Given the description of an element on the screen output the (x, y) to click on. 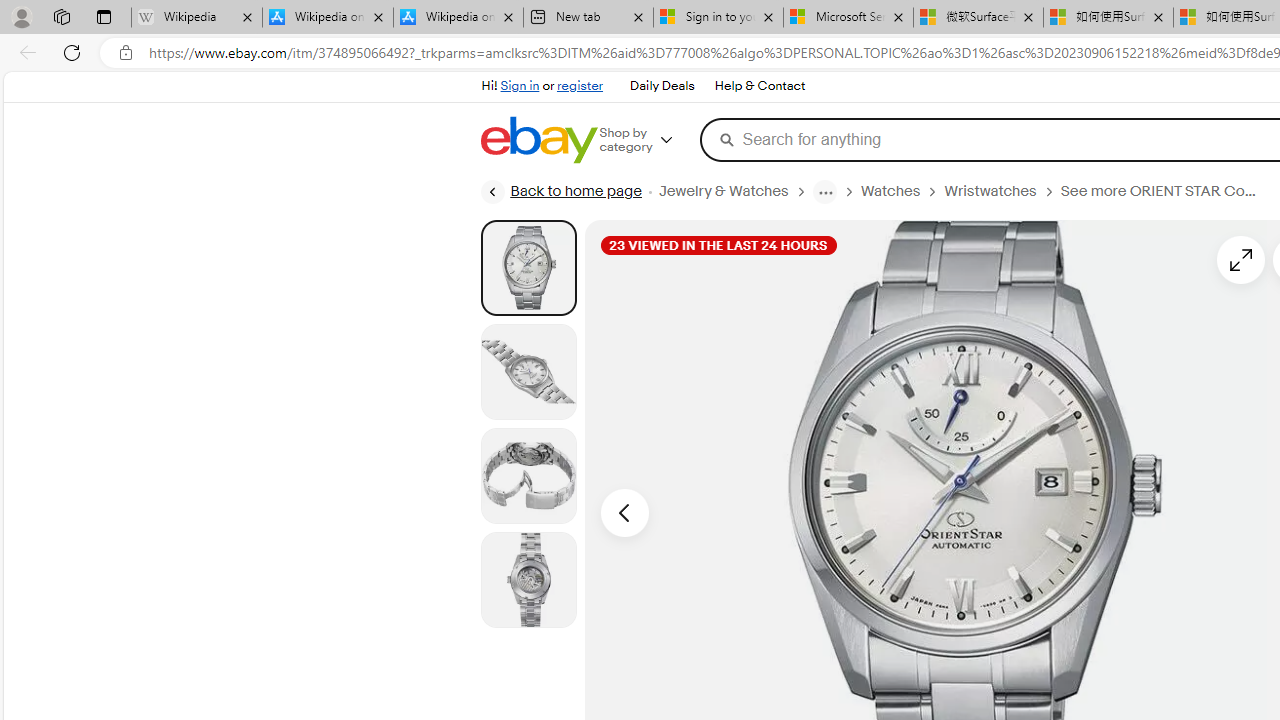
Jewelry & Watches (722, 191)
Shop by category (649, 140)
Jewelry & Watches (734, 191)
Back to home page (561, 191)
Opens image gallery (1240, 259)
register (579, 85)
Daily Deals (661, 85)
Previous image - Item images thumbnails (624, 512)
